Given the description of an element on the screen output the (x, y) to click on. 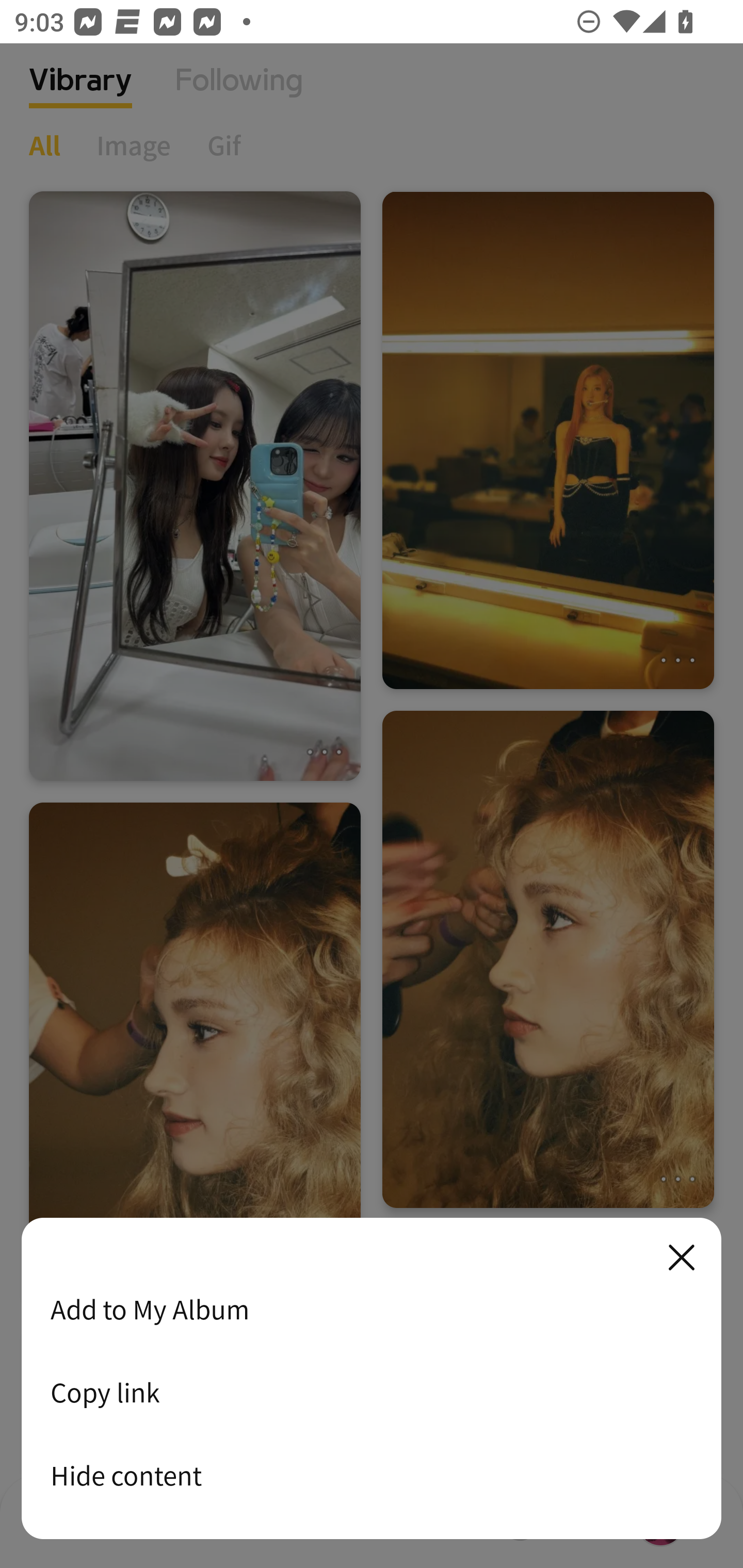
Add to My Album Copy link Hide content (371, 1378)
Add to My Album (371, 1308)
Copy link (371, 1391)
Hide content (371, 1474)
